Given the description of an element on the screen output the (x, y) to click on. 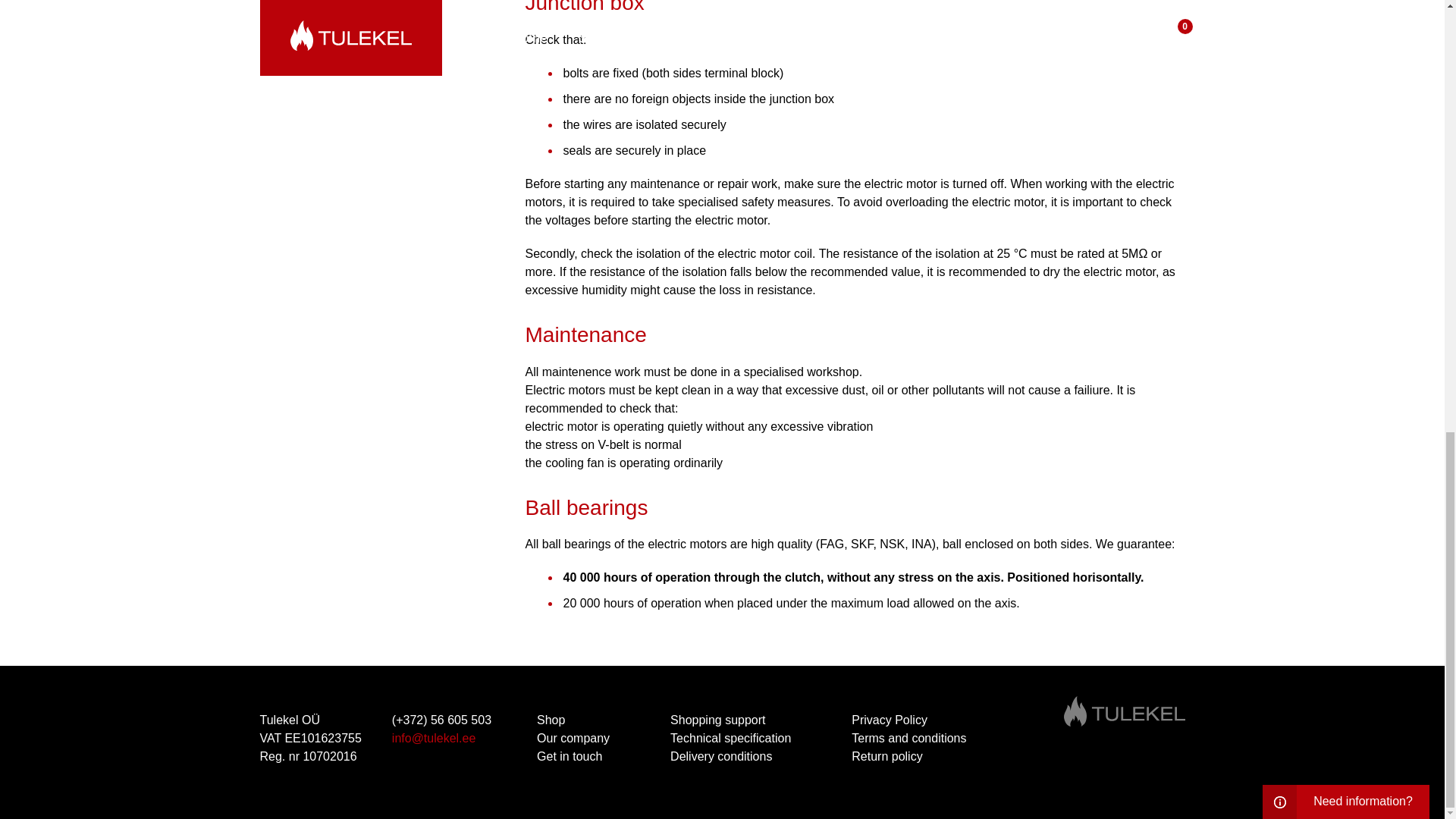
Delivery conditions (721, 756)
Get in touch (569, 756)
Shopping support (717, 719)
Technical specification (730, 737)
Shop (550, 719)
Terms and conditions (908, 737)
Our company (572, 737)
Return policy (886, 756)
Privacy Policy (888, 719)
